Given the description of an element on the screen output the (x, y) to click on. 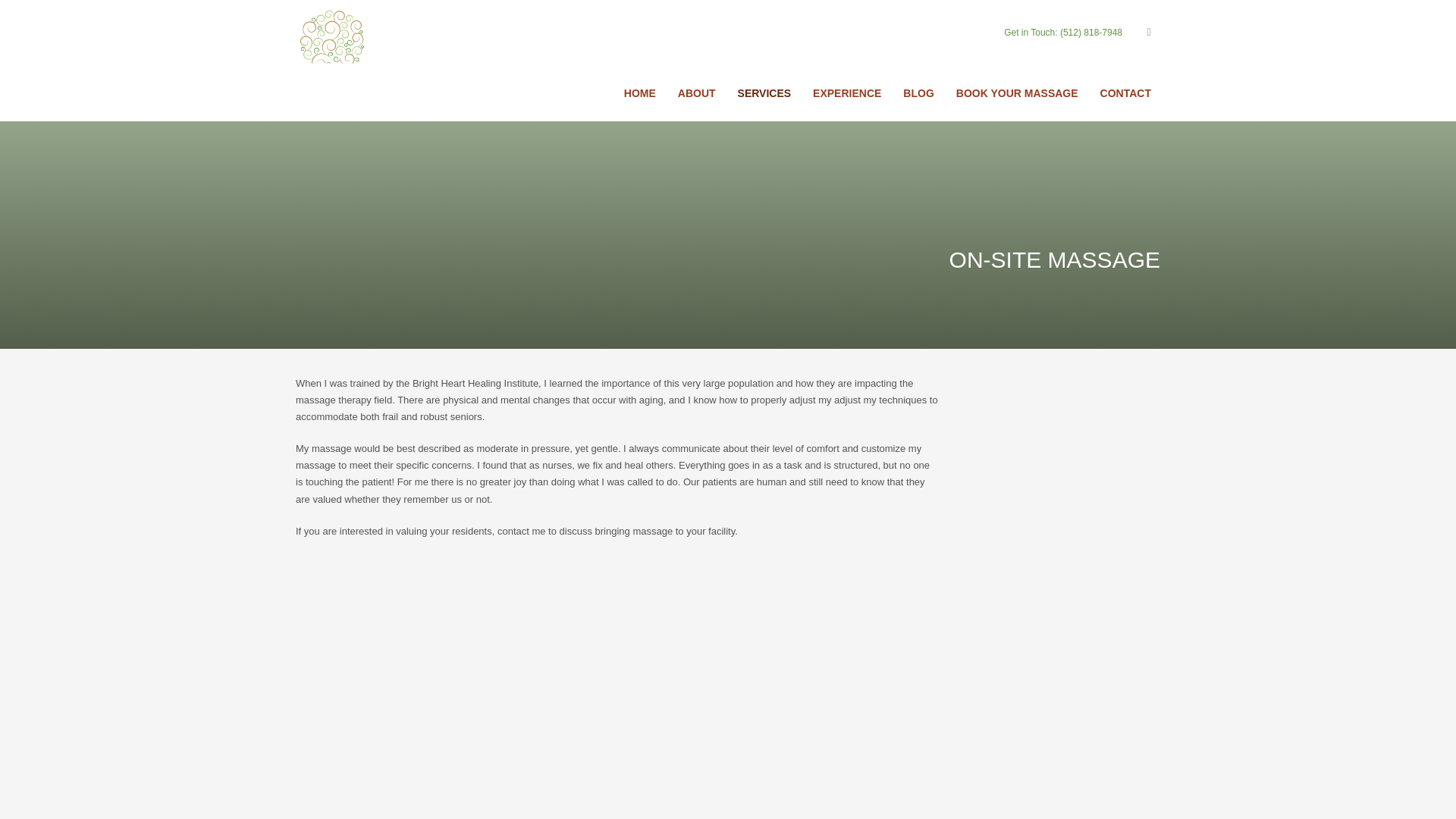
Facebook (1148, 32)
SERVICES (764, 93)
CONTACT (1125, 93)
BLOG (917, 93)
EXPERIENCE (846, 93)
Massage therapy for the elderly and geriatric community (377, 60)
HOME (639, 93)
ABOUT (696, 93)
BOOK YOUR MASSAGE (1017, 93)
